Given the description of an element on the screen output the (x, y) to click on. 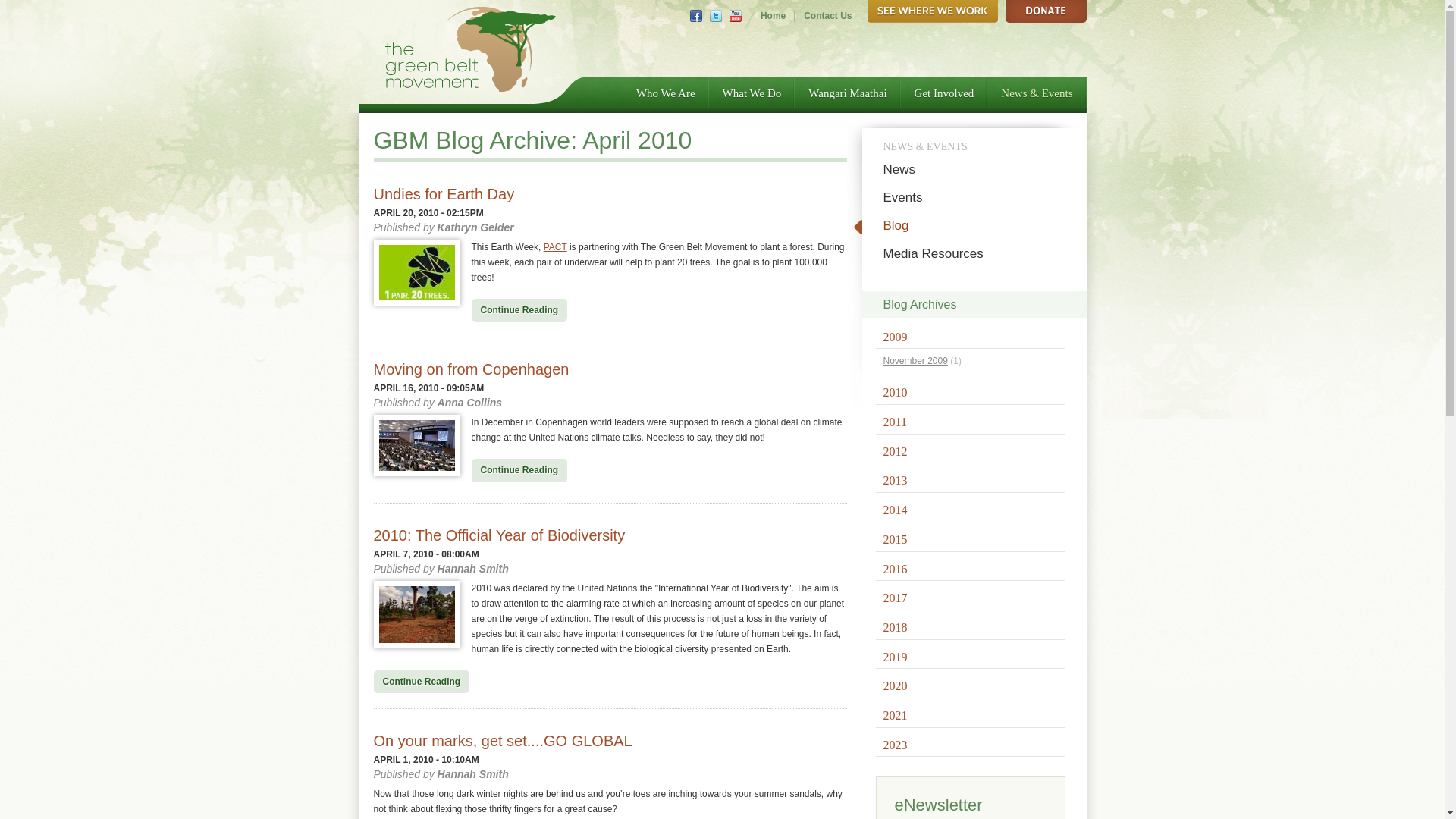
What We Do (751, 92)
The Green Belt Movement (470, 48)
Wangari Maathai (846, 92)
Home (773, 15)
Donate (1046, 11)
Facebook (695, 15)
See Where We Work (932, 11)
Contact Us (827, 15)
YouTube (735, 15)
Who We Are (666, 92)
Twitter (716, 15)
